Given the description of an element on the screen output the (x, y) to click on. 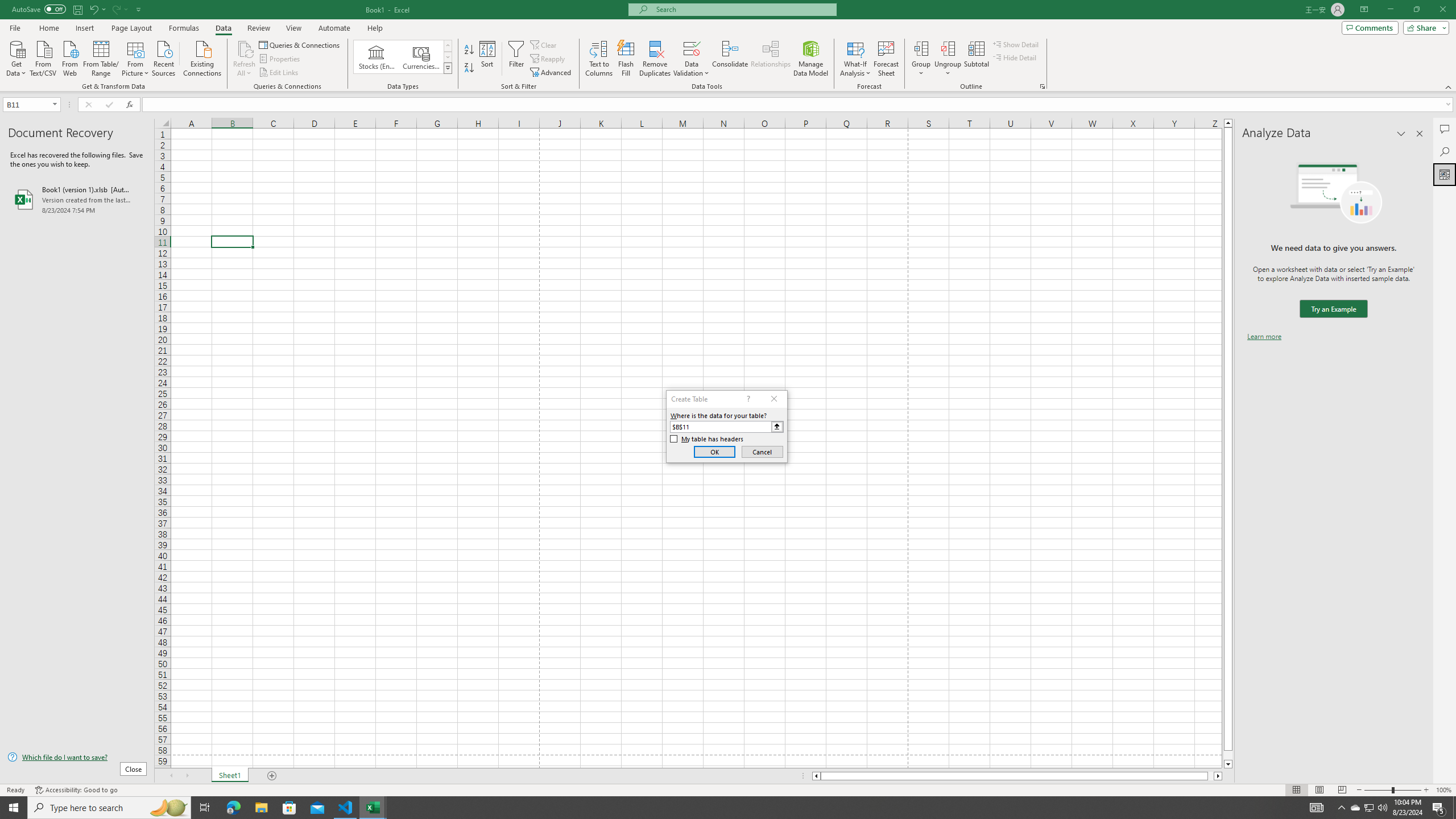
Manage Data Model (810, 58)
Search (1444, 151)
Queries & Connections (300, 44)
Relationships (770, 58)
Formula Bar (799, 104)
Remove Duplicates (654, 58)
